Given the description of an element on the screen output the (x, y) to click on. 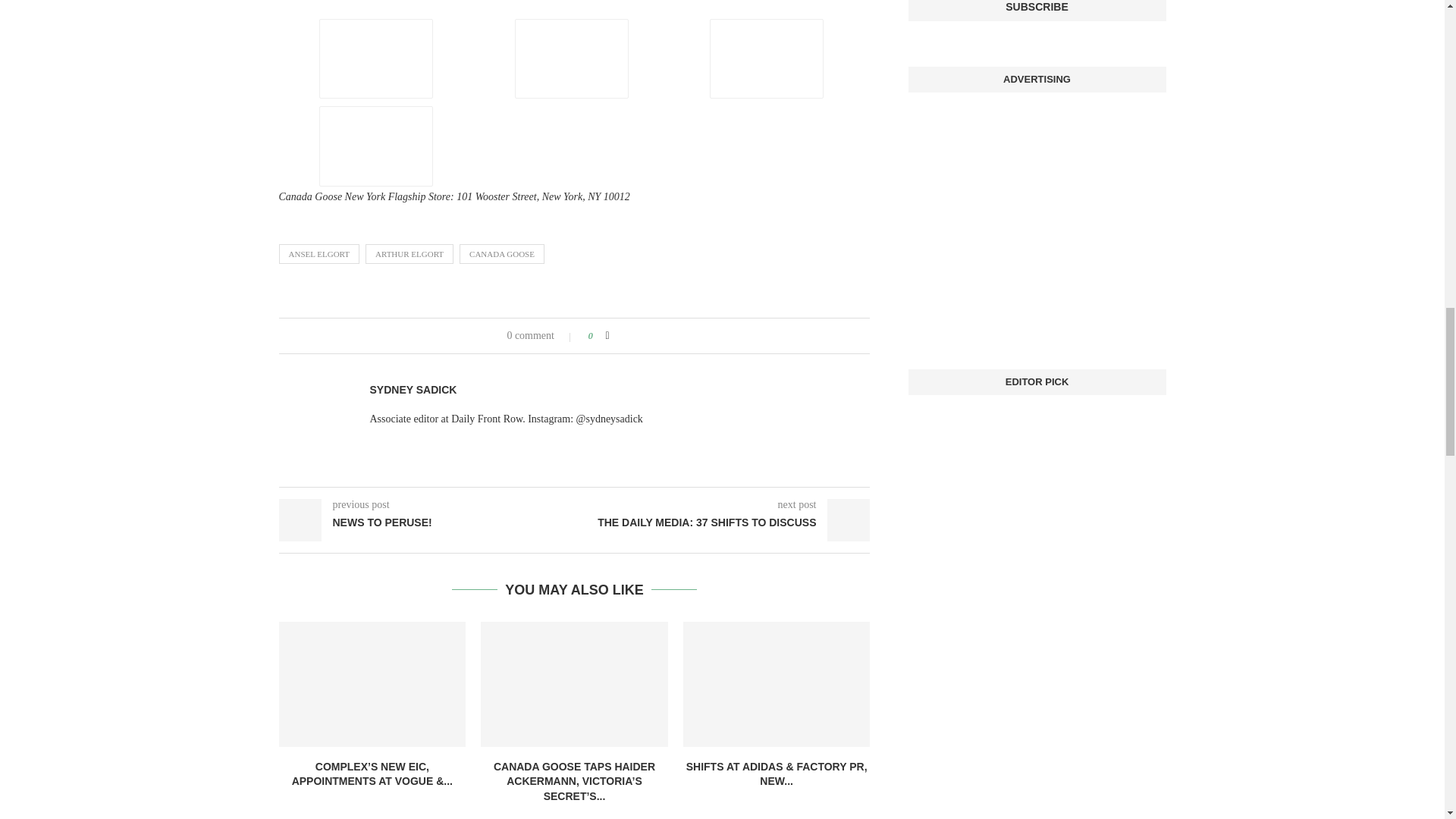
Subscribe (1037, 10)
ANSEL ELGORT (319, 253)
CANADA GOOSE (502, 253)
ARTHUR ELGORT (408, 253)
NEWS TO PERUSE! (427, 522)
Author Sydney Sadick (413, 390)
SYDNEY SADICK (413, 390)
